Given the description of an element on the screen output the (x, y) to click on. 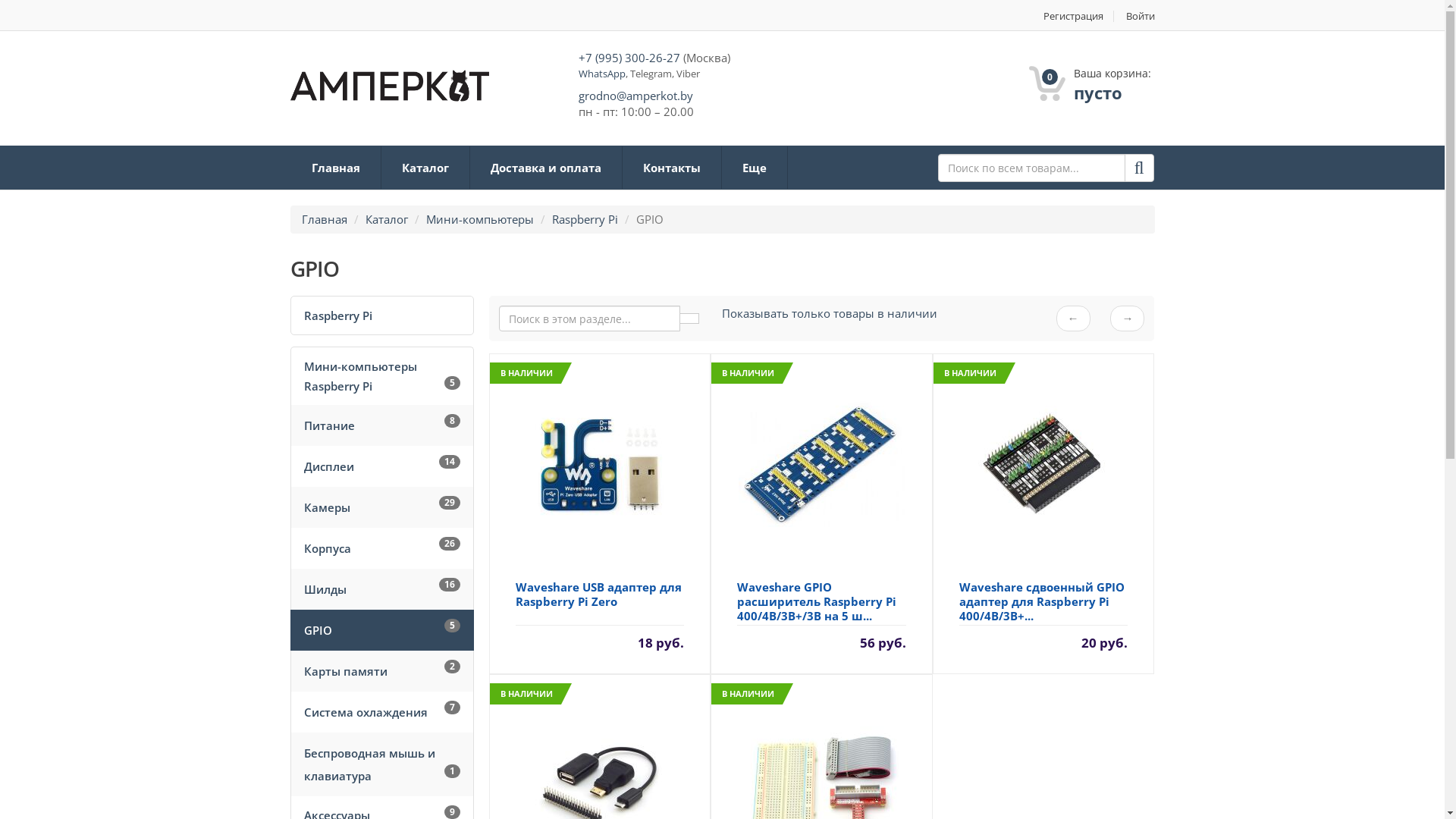
grodno@amperkot.by Element type: text (634, 95)
Raspberry Pi Element type: text (585, 218)
WhatsApp Element type: text (600, 73)
GPIO
5 Element type: text (382, 629)
+7 (995) 300-26-27 Element type: text (628, 57)
Raspberry Pi Element type: text (382, 315)
